Given the description of an element on the screen output the (x, y) to click on. 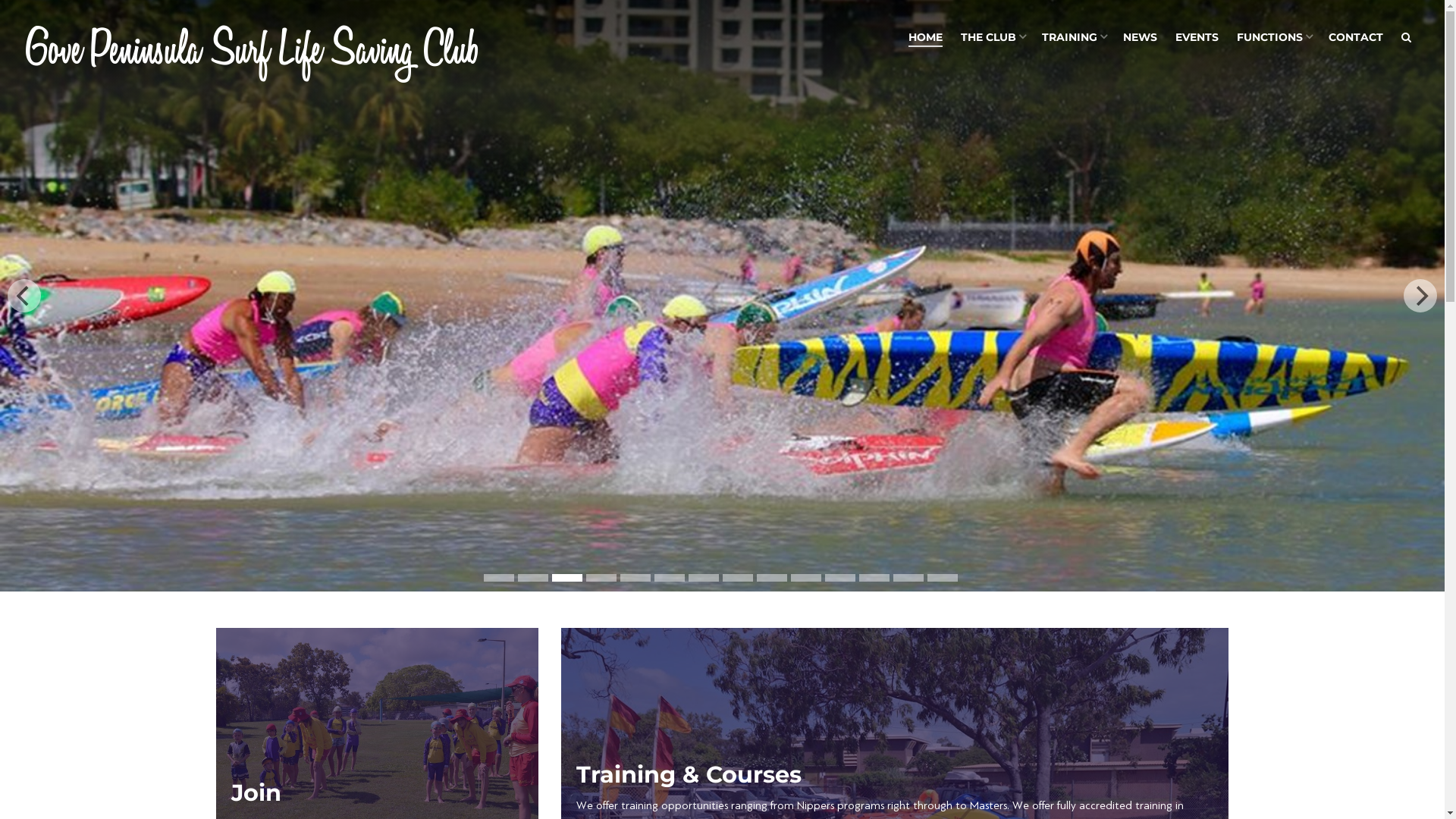
TRAINING Element type: text (1072, 37)
Search Element type: hover (1406, 37)
EVENTS Element type: text (1196, 37)
NEWS Element type: text (1139, 37)
FUNCTIONS Element type: text (1273, 37)
CONTACT Element type: text (1355, 37)
THE CLUB Element type: text (991, 37)
HOME Element type: text (925, 38)
